Given the description of an element on the screen output the (x, y) to click on. 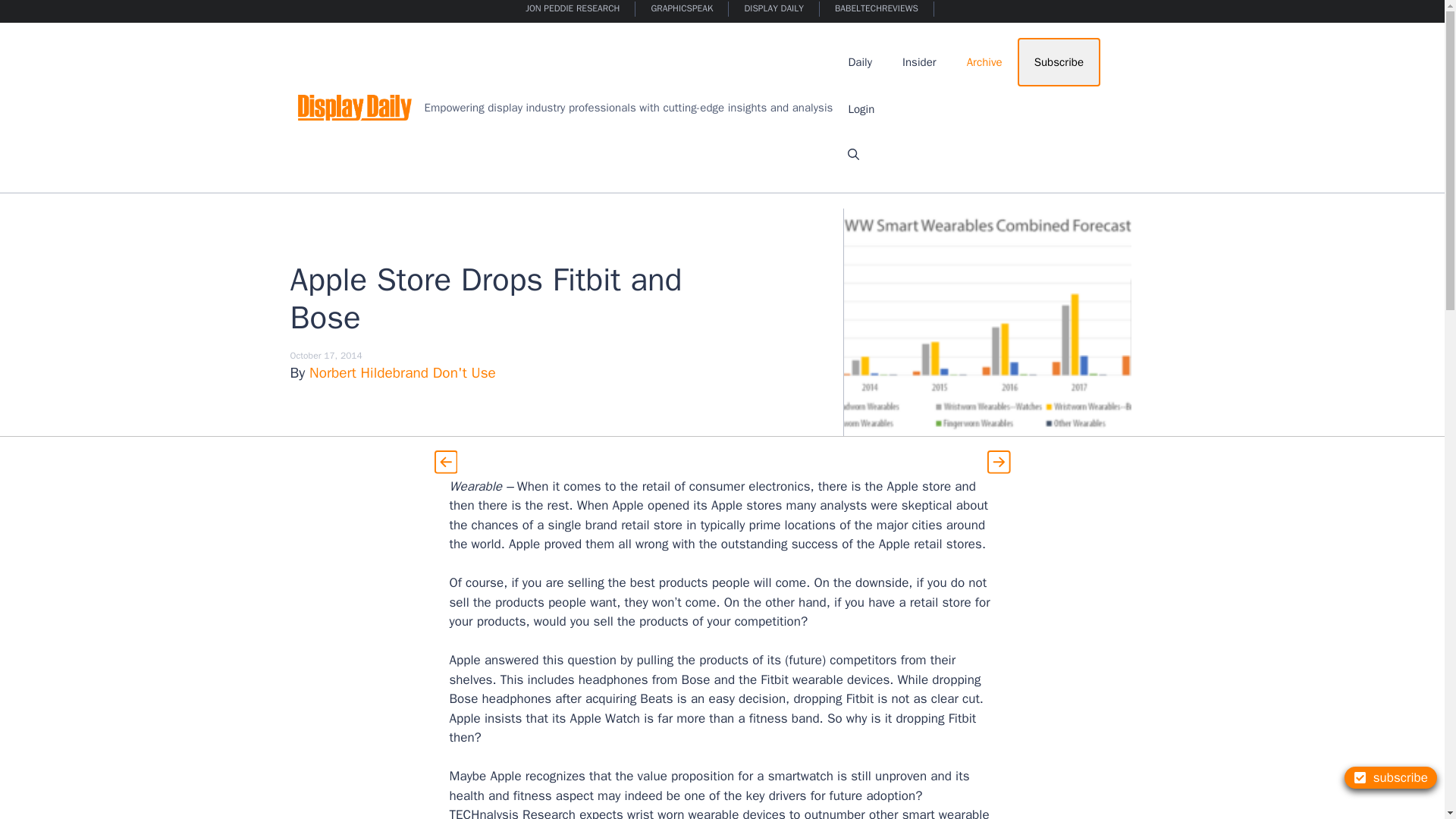
Subscribe (1059, 62)
Archive (984, 62)
DISPLAY DAILY (773, 8)
JON PEDDIE RESEARCH (572, 8)
subscribe (1390, 776)
subscribe (1390, 776)
GRAPHICSPEAK (681, 8)
BABELTECHREVIEWS (876, 8)
Login (860, 108)
Norbert Hildebrand Don't Use (402, 372)
Daily (859, 62)
Insider (919, 62)
